Given the description of an element on the screen output the (x, y) to click on. 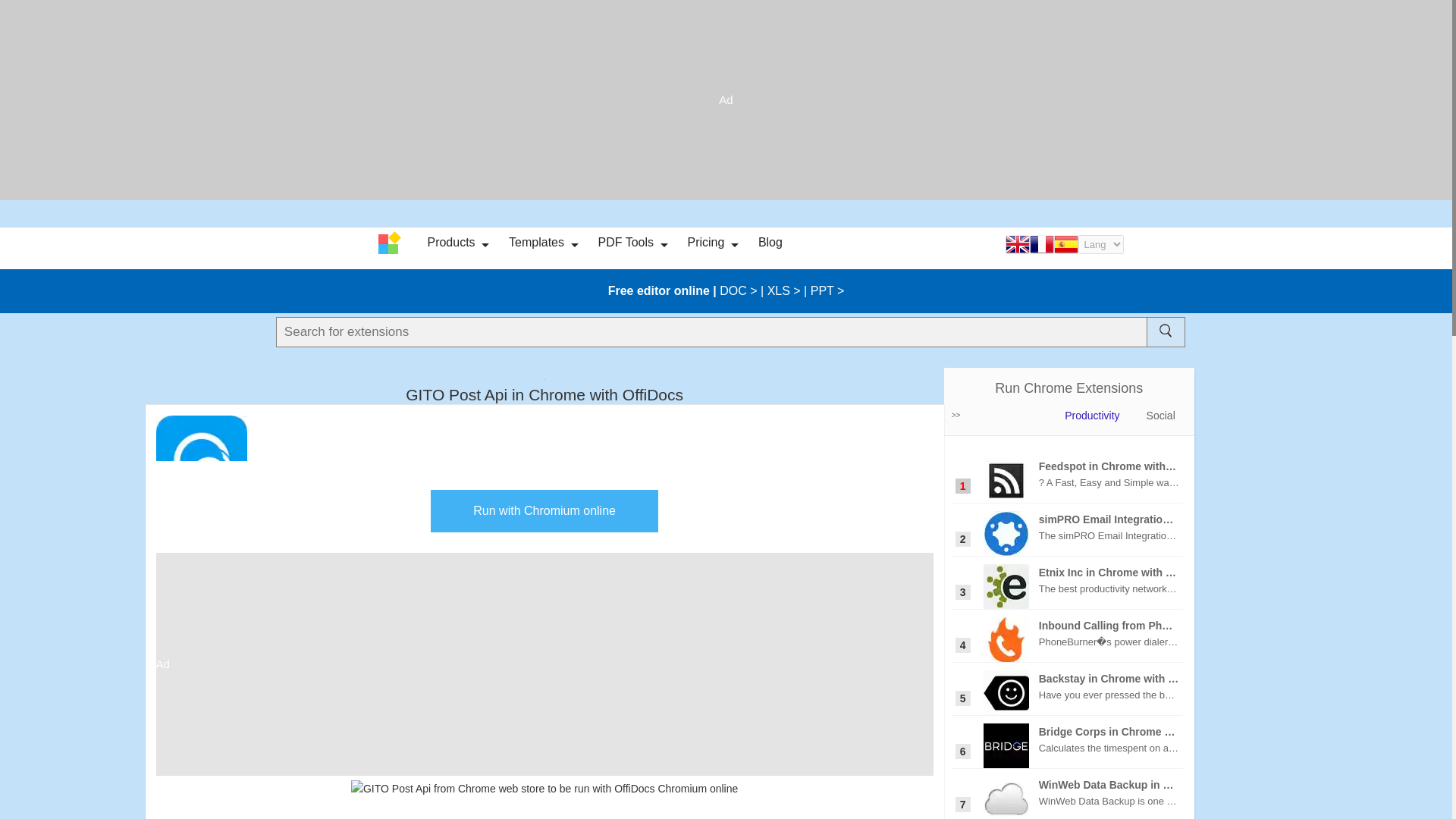
Templates (536, 241)
OffiDocs Logo (391, 241)
PDF Tools (624, 241)
Products (450, 241)
